Given the description of an element on the screen output the (x, y) to click on. 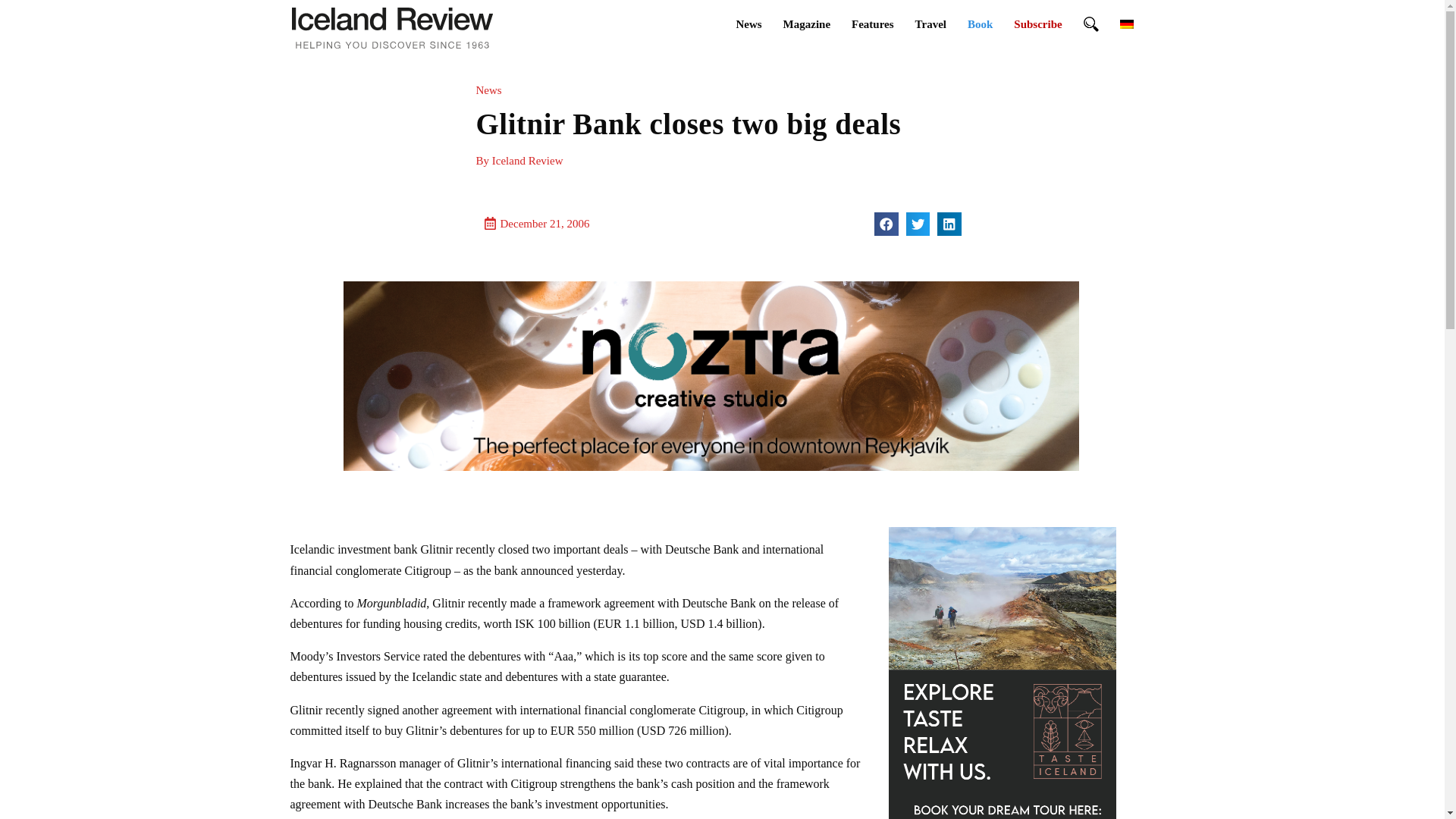
Magazine (807, 23)
Features (872, 23)
Travel (930, 23)
Subscribe (1037, 23)
News (748, 23)
Book (979, 23)
